Given the description of an element on the screen output the (x, y) to click on. 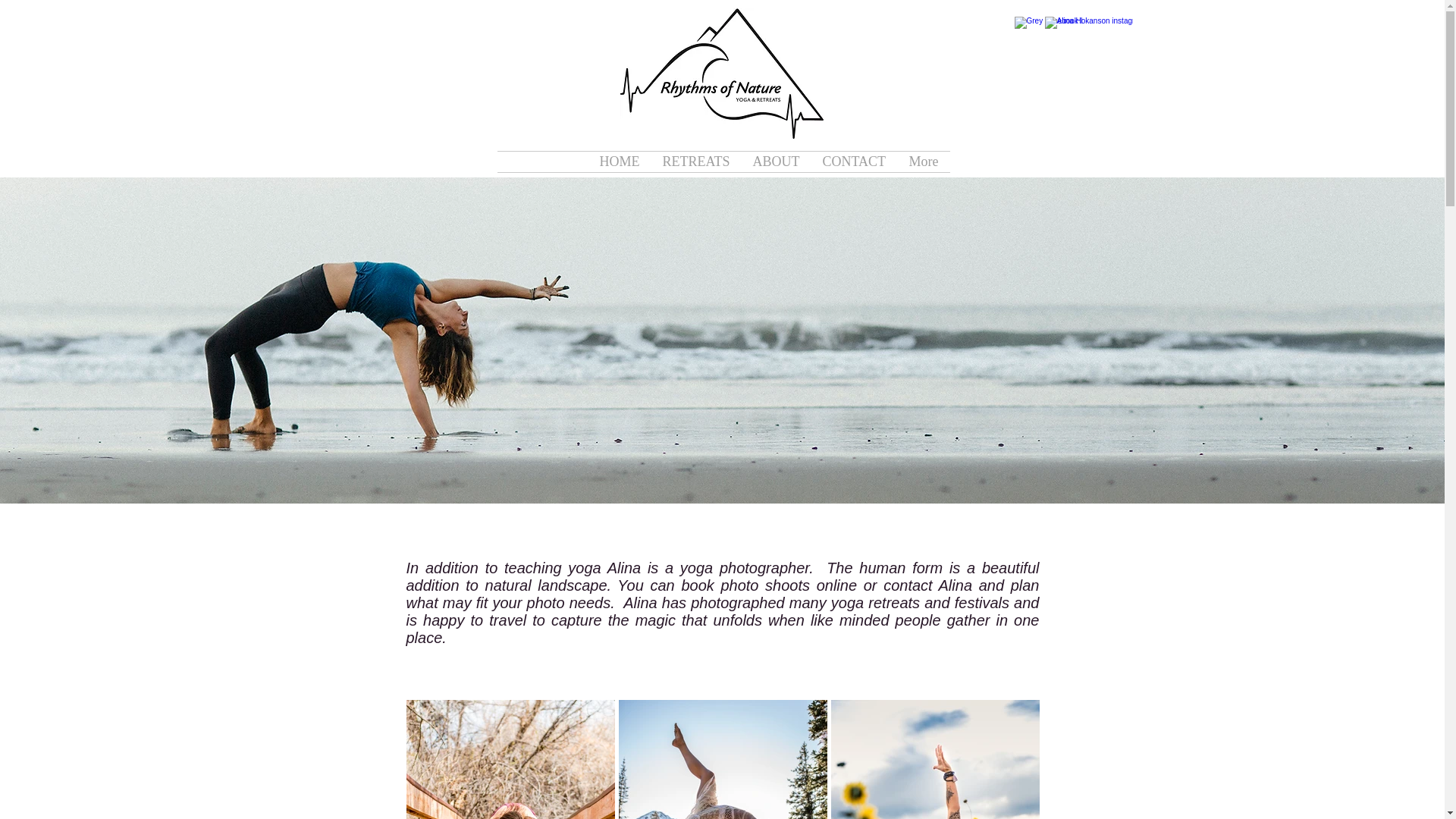
RETREATS (695, 161)
HOME (619, 161)
CONTACT (854, 161)
ABOUT (775, 161)
